Given the description of an element on the screen output the (x, y) to click on. 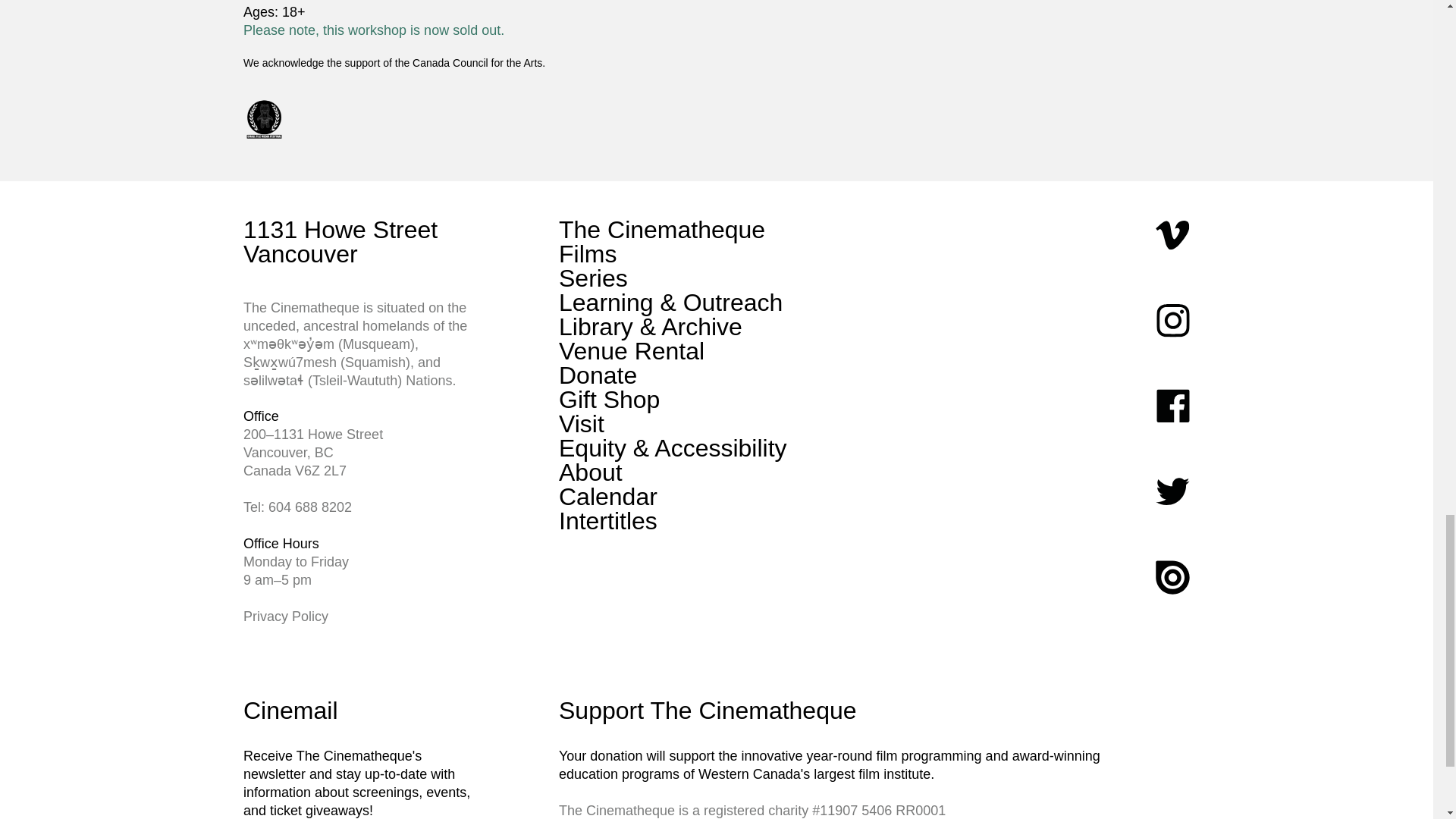
Visit (581, 423)
Films (587, 253)
Facebook (1172, 406)
Privacy Policy (286, 616)
Calendar (608, 496)
Intertitles (608, 520)
Donate (598, 375)
Venue Rental (631, 350)
Series (593, 277)
The Cinematheque (662, 229)
